Given the description of an element on the screen output the (x, y) to click on. 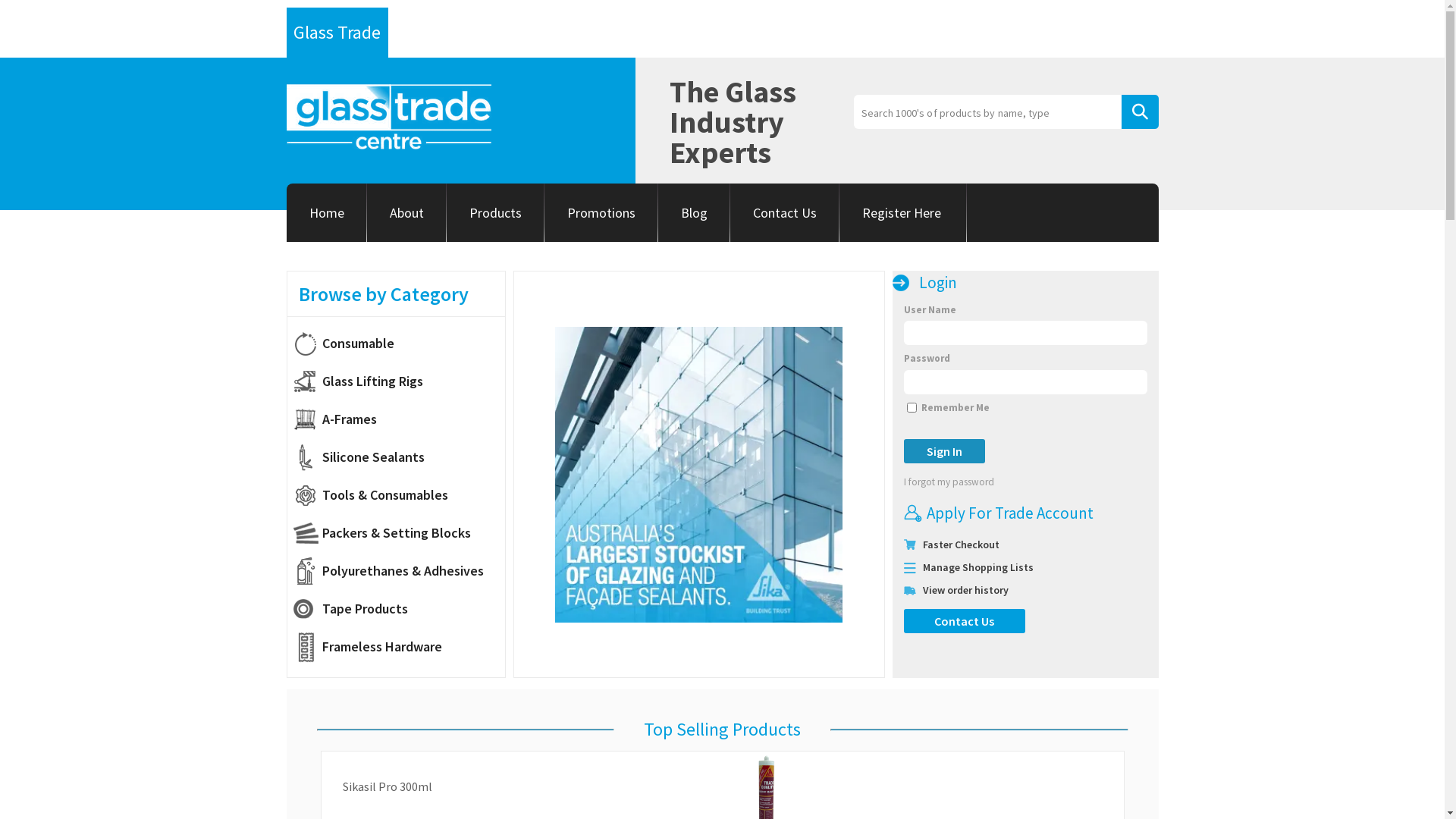
Frameless Hardware Element type: text (398, 646)
Packers & Setting Blocks Element type: text (398, 533)
Glass Trade Element type: text (337, 32)
Contact Us Element type: text (964, 620)
Blog Element type: text (694, 212)
View order history Element type: text (964, 589)
Contact Us Element type: text (783, 212)
Tape Products Element type: text (398, 608)
Promotions Element type: text (601, 212)
Home Element type: text (326, 212)
Polyurethanes & Adhesives Element type: text (398, 570)
I forgot my password Element type: text (971, 481)
Consumable Element type: text (398, 343)
Products Element type: text (494, 212)
Faster Checkout Element type: text (960, 544)
Register Here Element type: text (902, 212)
About Element type: text (406, 212)
Manage Shopping Lists Element type: text (977, 567)
Tools & Consumables Element type: text (398, 495)
Glass Lifting Rigs Element type: text (398, 381)
A-Frames Element type: text (398, 419)
Sign In Element type: text (944, 451)
Silicone Sealants Element type: text (398, 457)
